Given the description of an element on the screen output the (x, y) to click on. 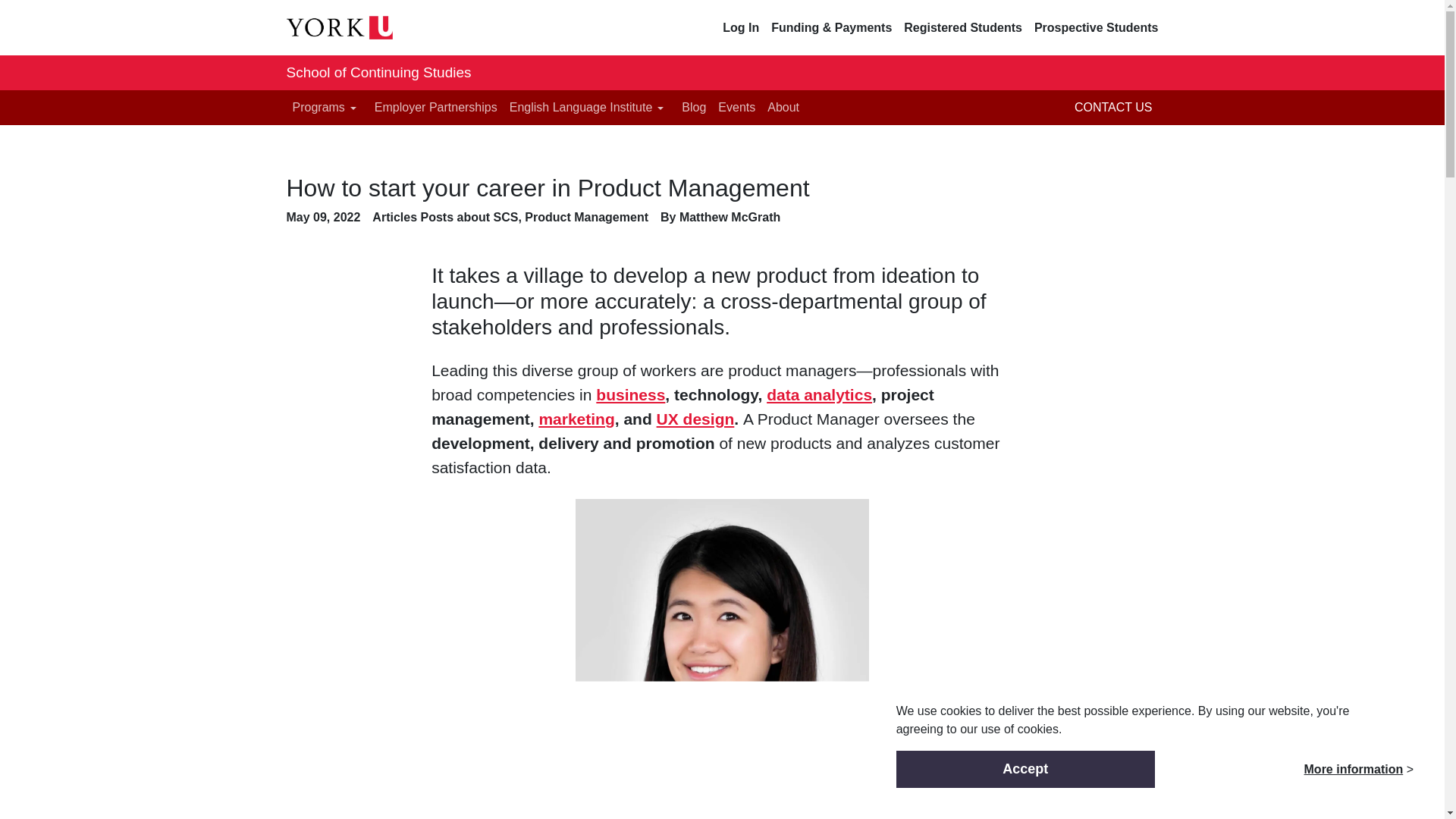
School of Continuing Studies (378, 72)
Prospective Students (1095, 27)
Employer Partnerships (435, 107)
Accept (1025, 769)
Registered Students (963, 27)
English Language Institute (590, 107)
School of Continuing Studies (378, 72)
Programs (327, 107)
More information (1353, 768)
Log In (740, 27)
